Given the description of an element on the screen output the (x, y) to click on. 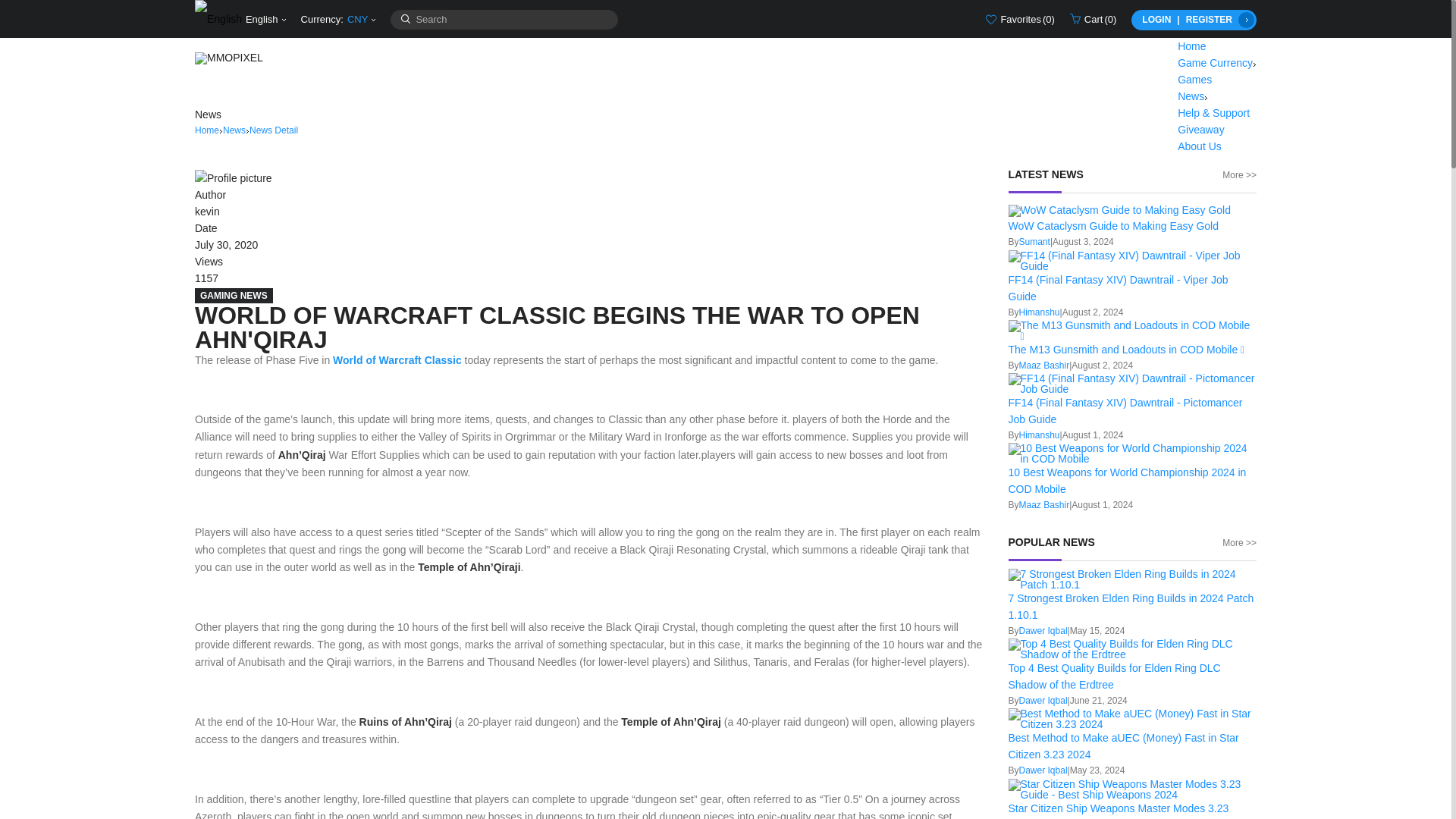
Home (1191, 46)
Maaz Bashir (1044, 365)
Home (207, 130)
Sumant (1034, 241)
News (1192, 96)
WoW Cataclysm Guide to Making Easy Gold (1114, 225)
WoW Classic (397, 359)
Game Currency (1216, 62)
World of Warcraft Classic (397, 359)
Himanshu (1039, 312)
Giveaway (1200, 129)
About Us (1199, 146)
News (234, 130)
News Detail (273, 130)
Games (1194, 79)
